Given the description of an element on the screen output the (x, y) to click on. 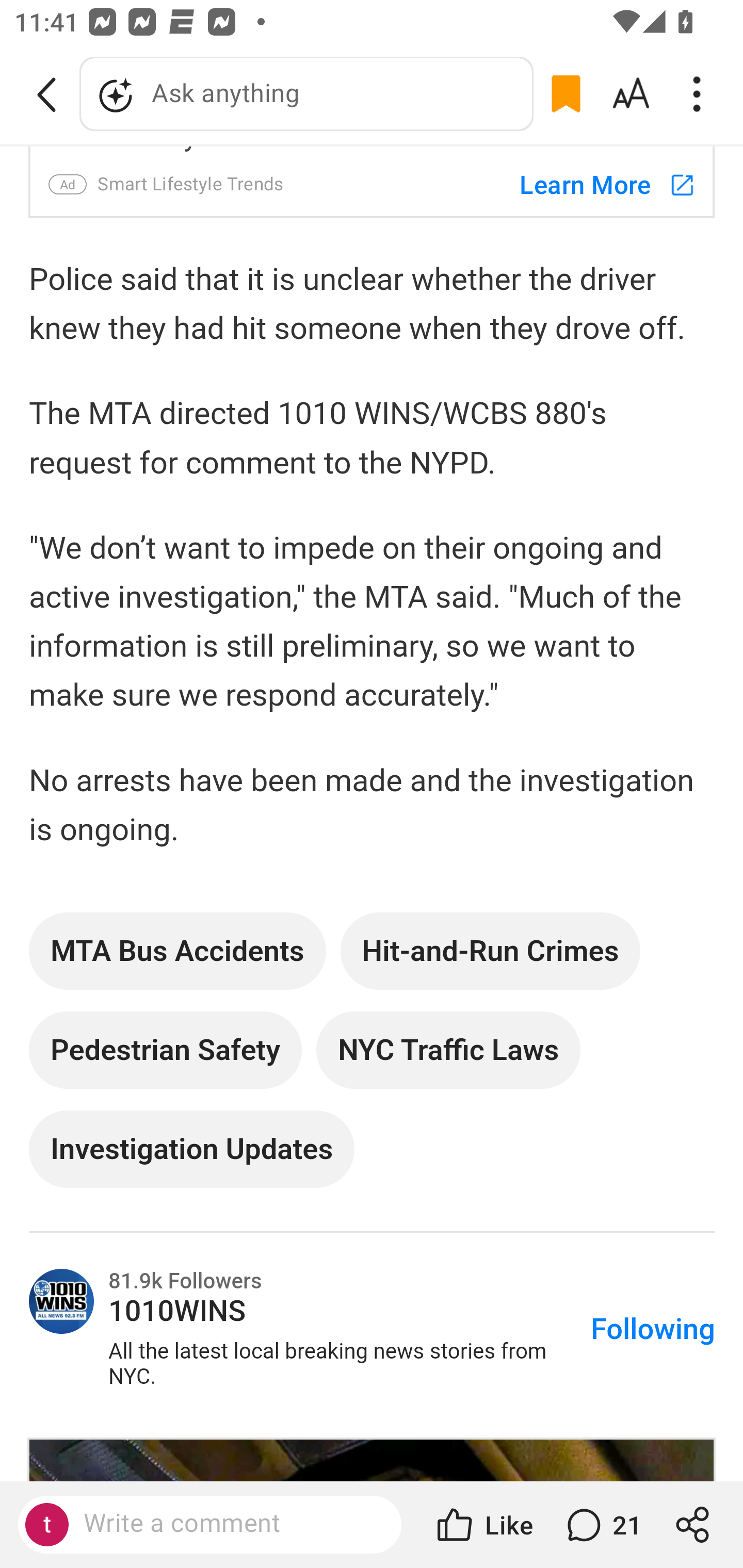
Ask anything (306, 93)
Learn More (597, 184)
Smart Lifestyle Trends (190, 184)
1010WINS (61, 1302)
Following (652, 1330)
Like (483, 1524)
21 (601, 1524)
Write a comment (226, 1523)
